Given the description of an element on the screen output the (x, y) to click on. 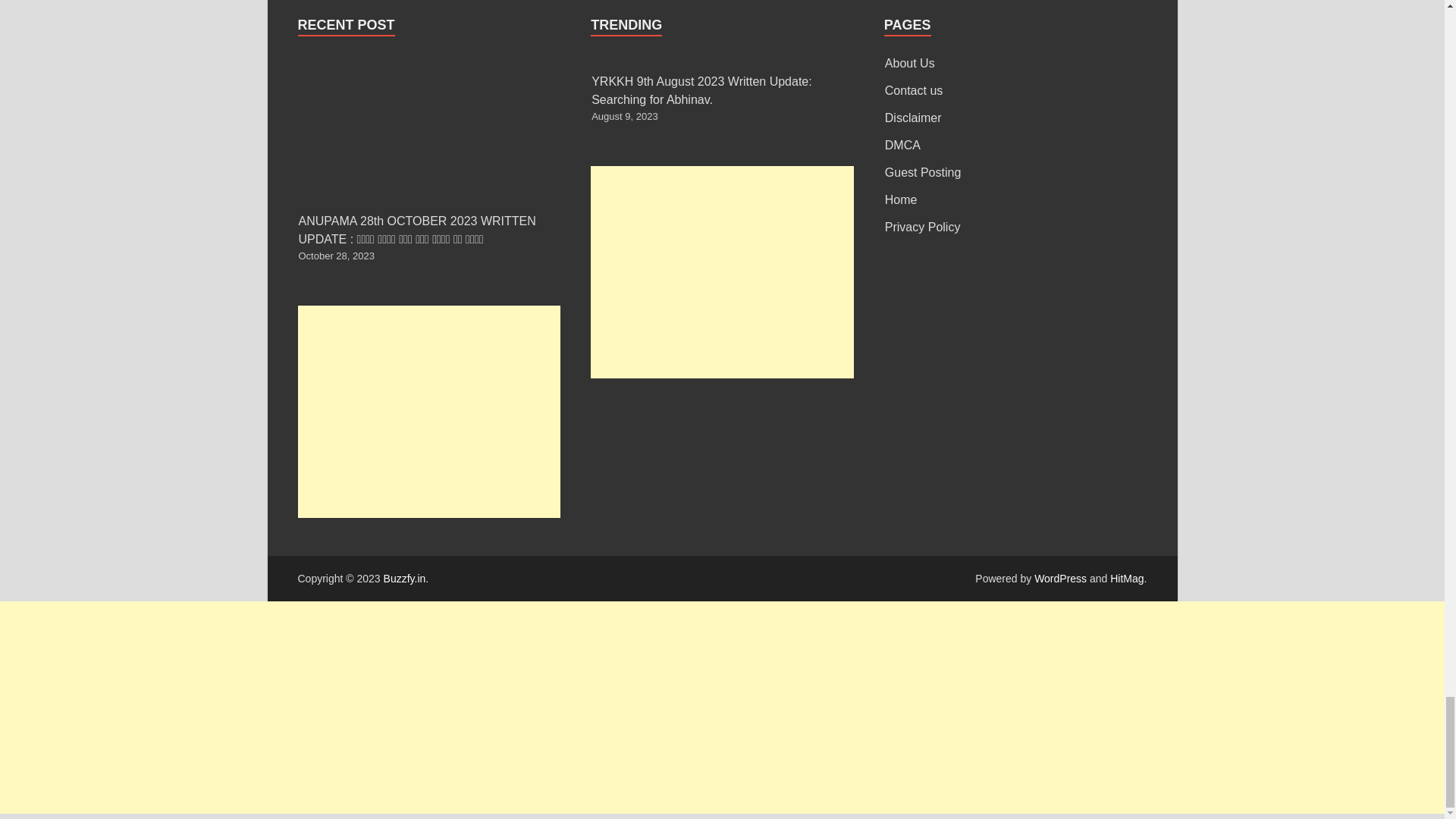
YRKKH 9th August 2023 Written Update: Searching for Abhinav. (701, 90)
About Us (909, 62)
Buzzfy.in (405, 578)
WordPress (1059, 578)
